Given the description of an element on the screen output the (x, y) to click on. 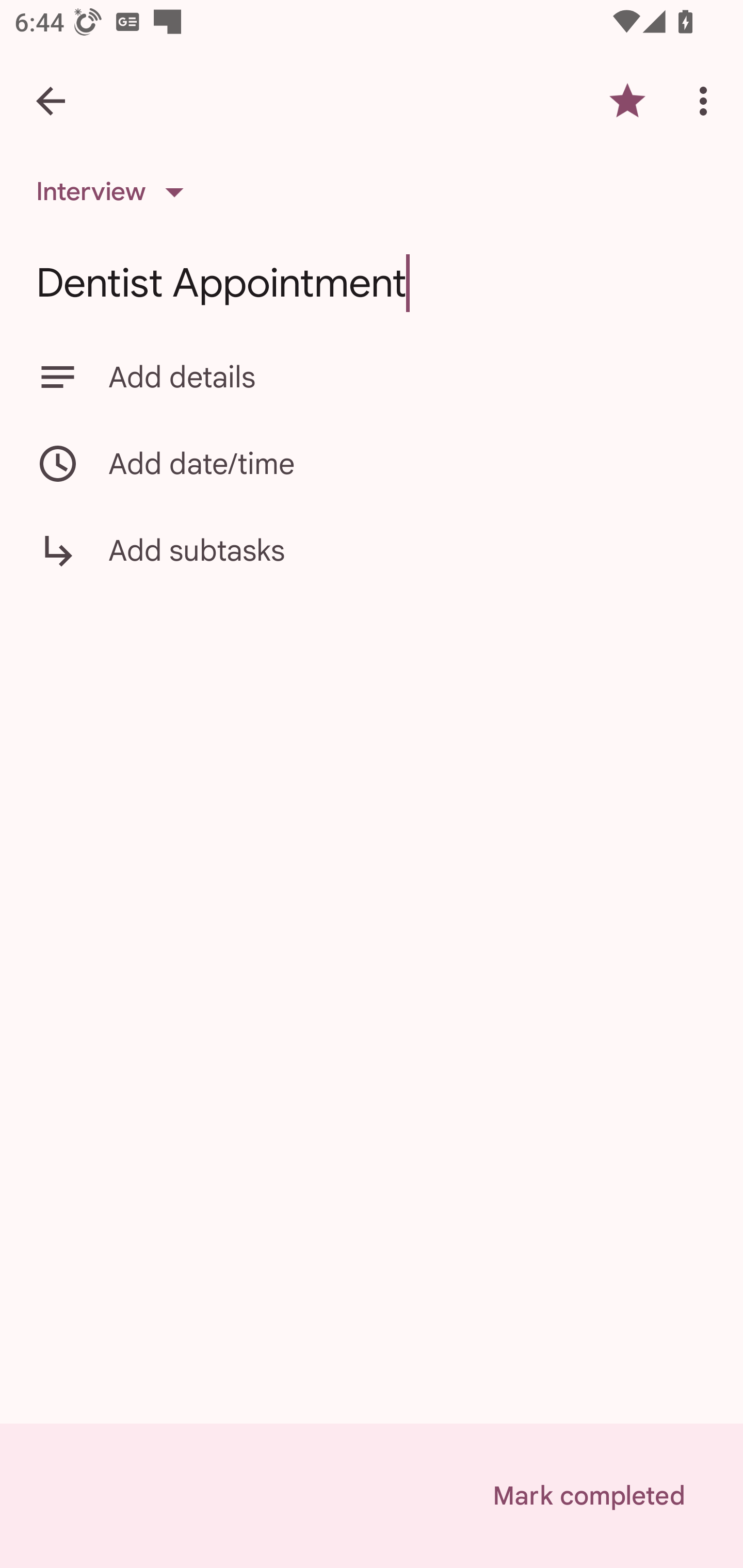
Back (50, 101)
Remove star (626, 101)
More options (706, 101)
Interview List, Interview selected, 1 of 4 (116, 191)
Dentist Appointment (371, 283)
Add details (371, 376)
Add details (407, 376)
Add date/time (371, 463)
Add subtasks (371, 564)
Mark completed (588, 1495)
